Given the description of an element on the screen output the (x, y) to click on. 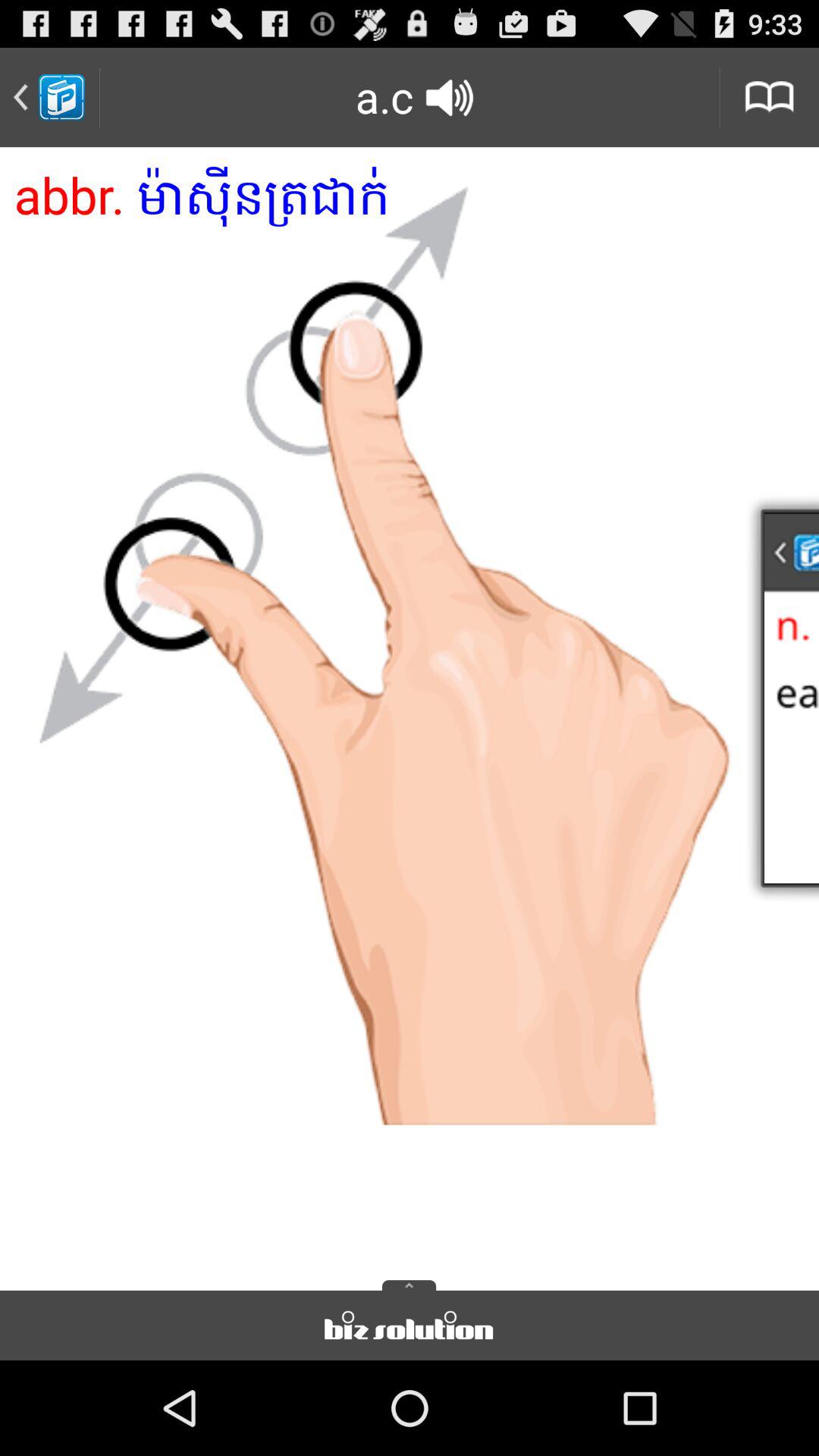
click the icon below  a.c  icon (409, 713)
